Given the description of an element on the screen output the (x, y) to click on. 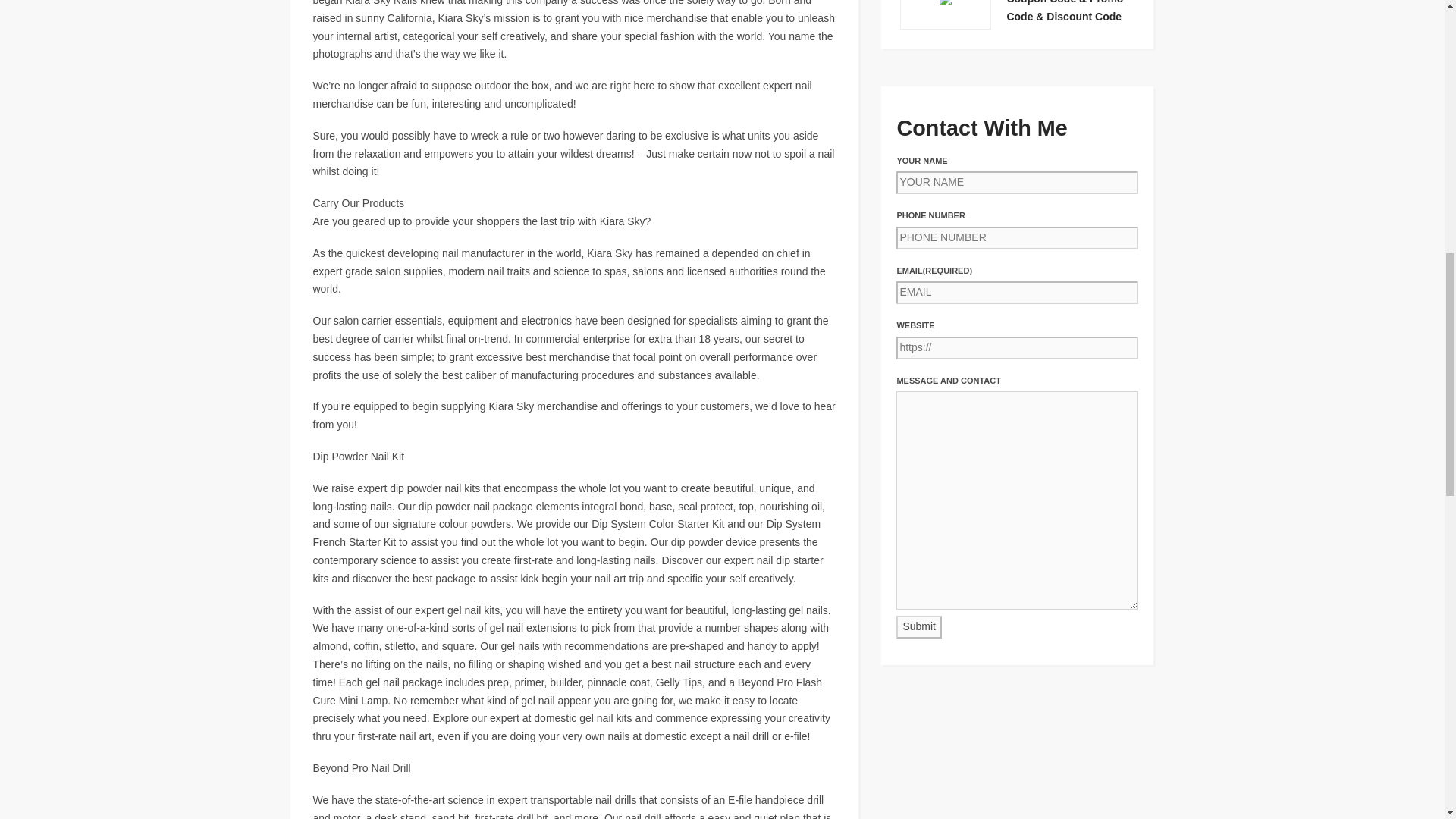
Submit (919, 626)
Submit (919, 626)
